Given the description of an element on the screen output the (x, y) to click on. 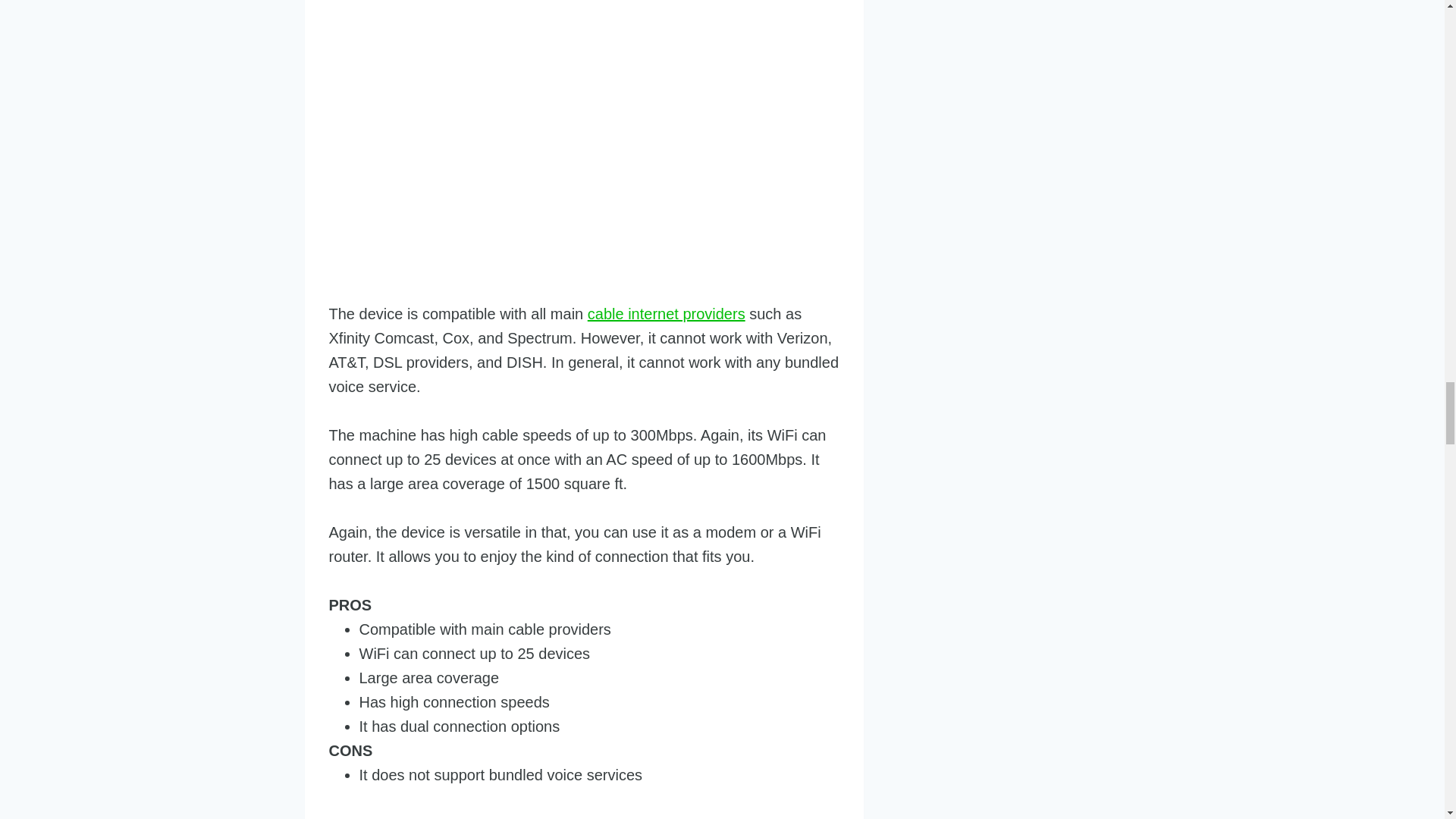
cable internet providers (666, 313)
